Given the description of an element on the screen output the (x, y) to click on. 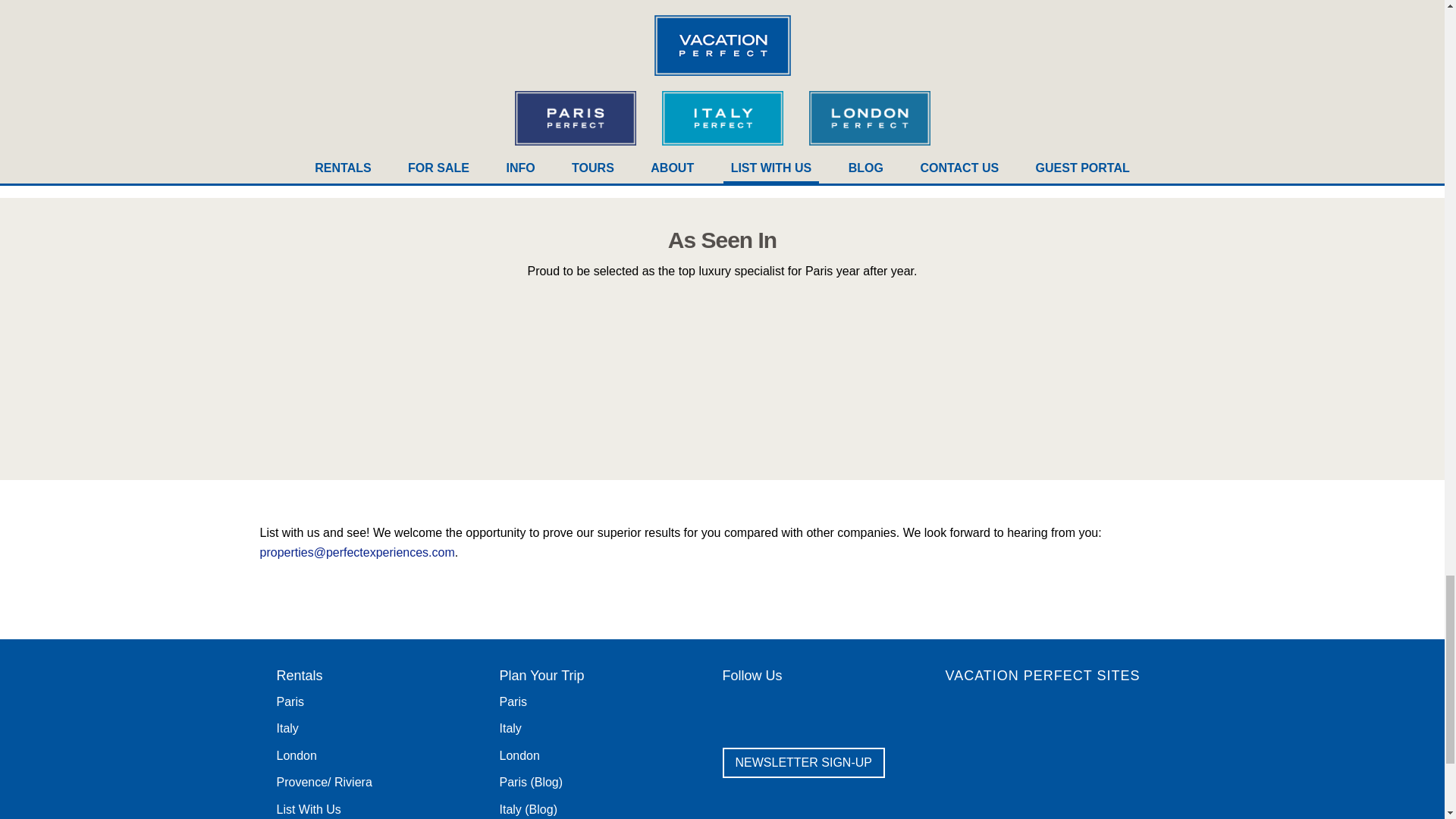
Pinterest (856, 708)
Instagram (894, 708)
Facebook (738, 708)
Youtube (815, 708)
Twitter (777, 708)
